Given the description of an element on the screen output the (x, y) to click on. 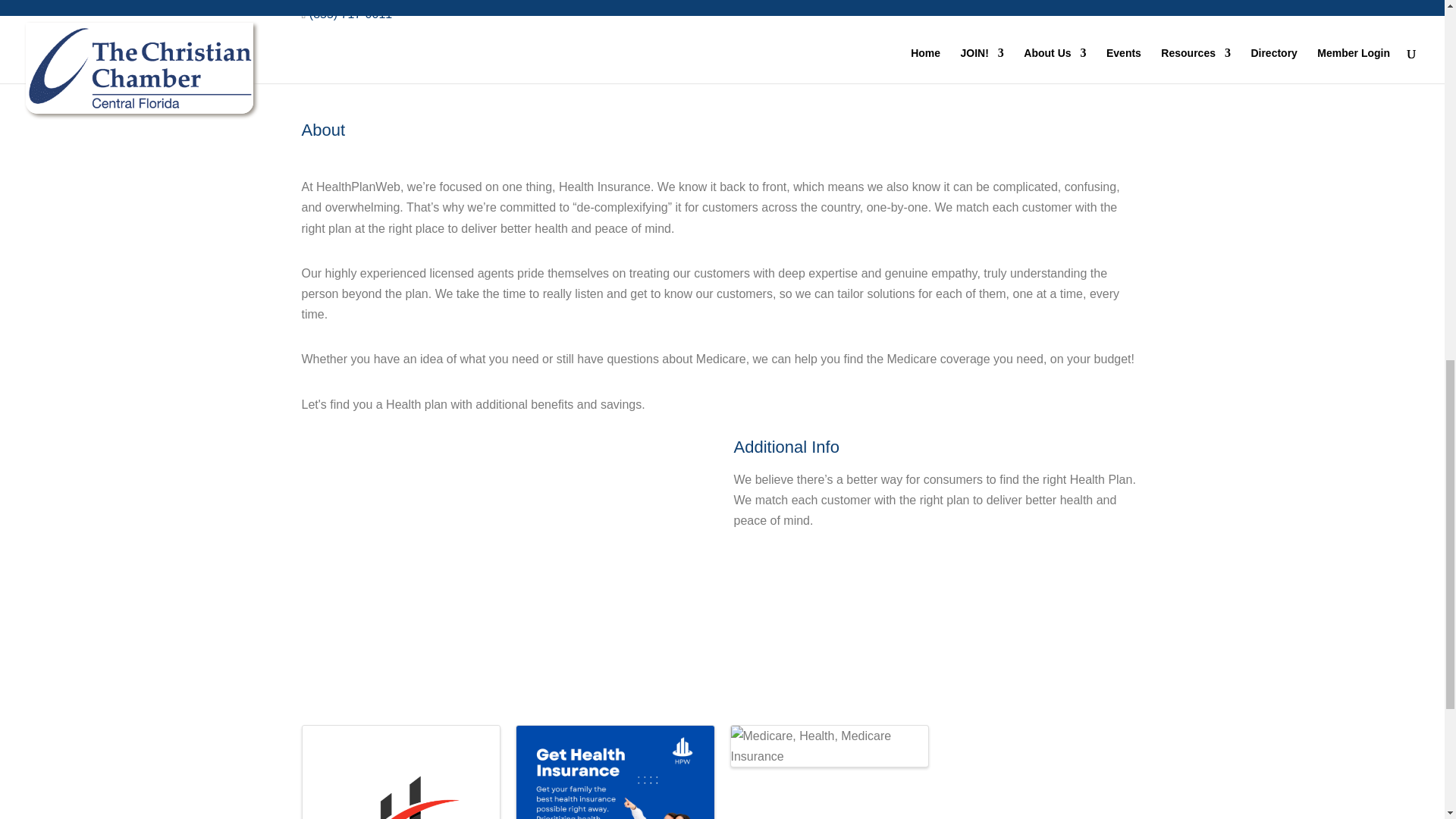
Send Email (339, 44)
www.healthplanweb.com (375, 75)
